Given the description of an element on the screen output the (x, y) to click on. 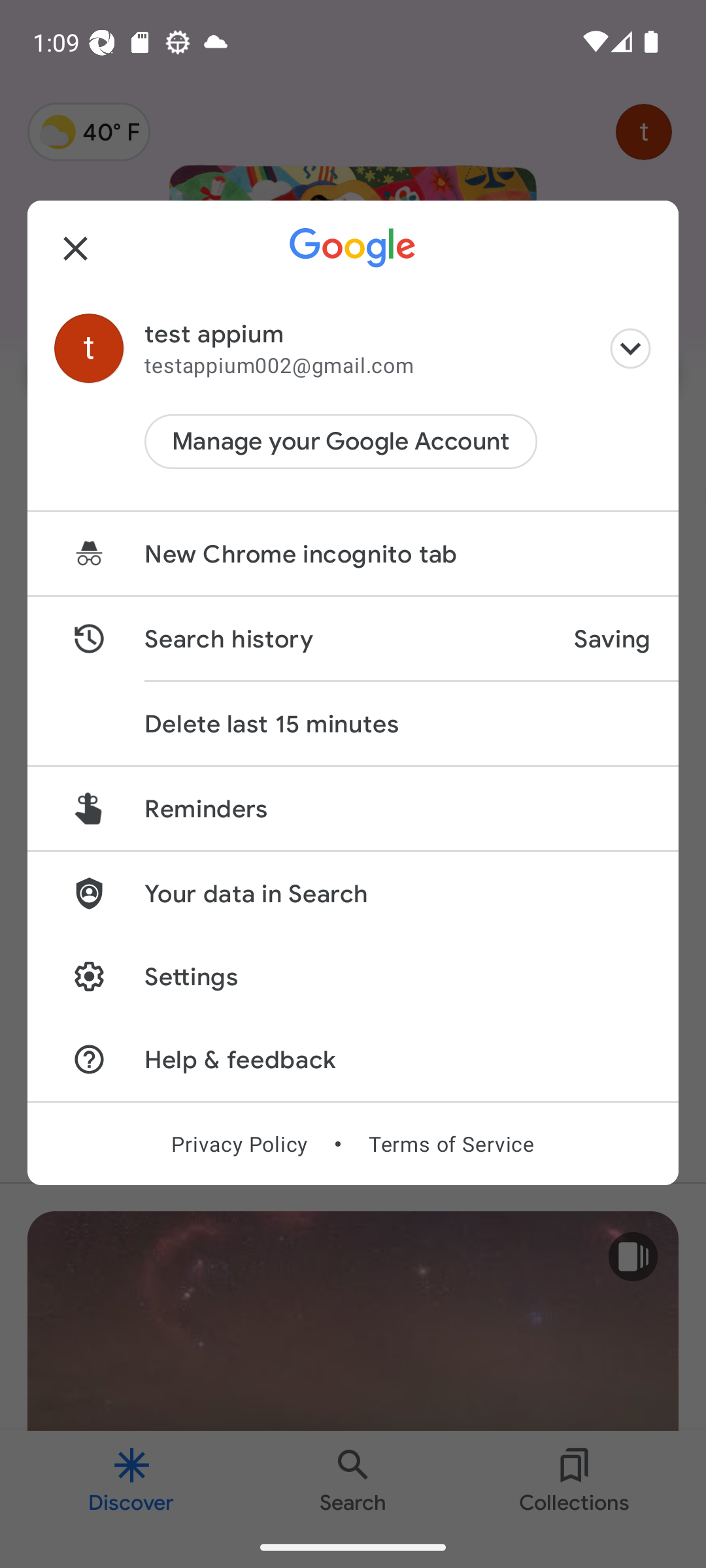
Close (75, 248)
Manage your Google Account (340, 440)
New Chrome incognito tab (353, 553)
Search history Saving (353, 638)
Reminders (353, 807)
Your data in Search (353, 892)
Settings (353, 975)
Help & feedback (353, 1058)
Privacy Policy (239, 1143)
Terms of Service (450, 1143)
